Given the description of an element on the screen output the (x, y) to click on. 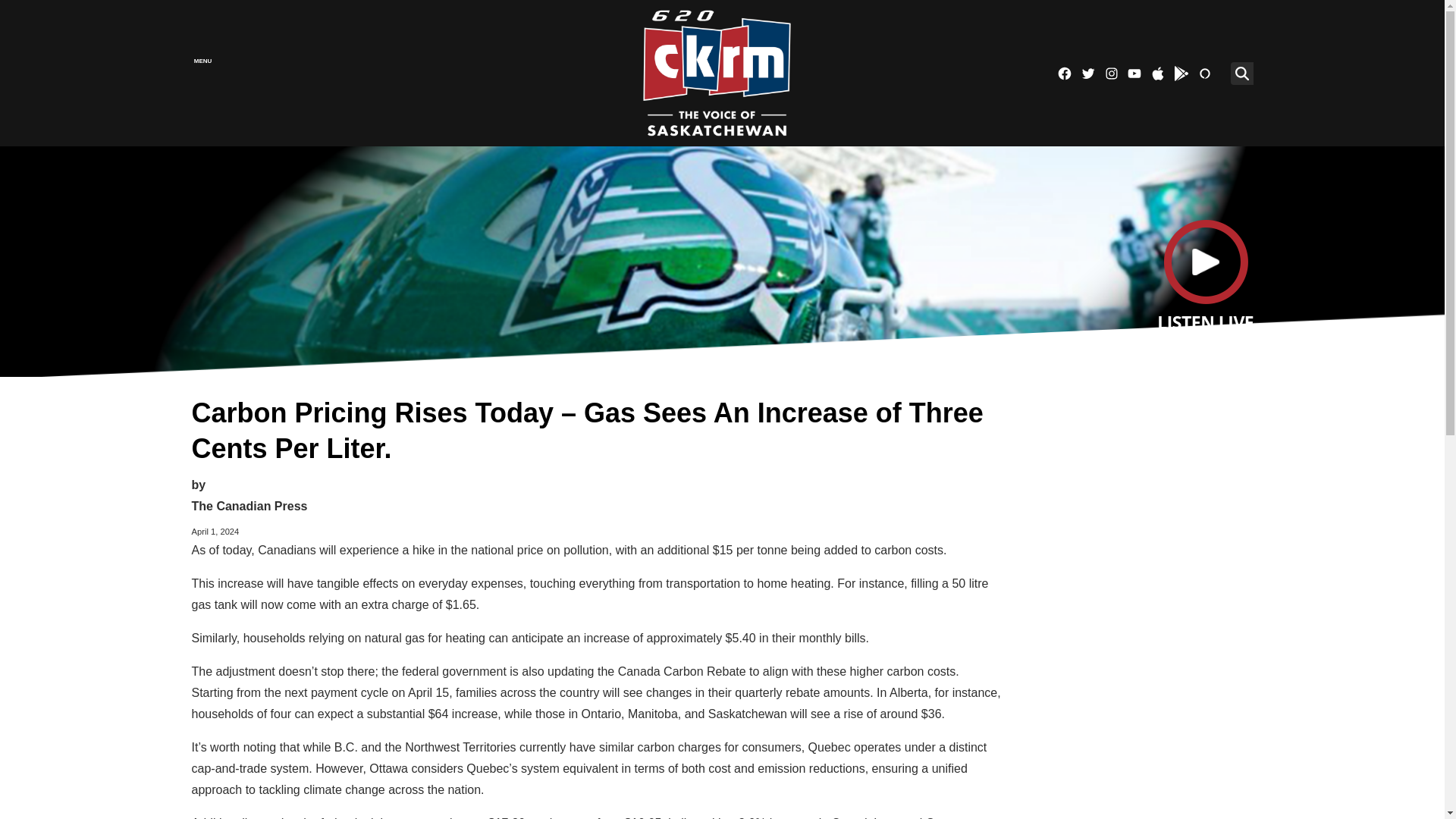
YouTube (1133, 73)
Facebook (1064, 73)
Instagram (1111, 73)
Apple Store (1158, 73)
Ask Alexa (1203, 73)
Google Play (1181, 73)
Twitter (1088, 73)
